Given the description of an element on the screen output the (x, y) to click on. 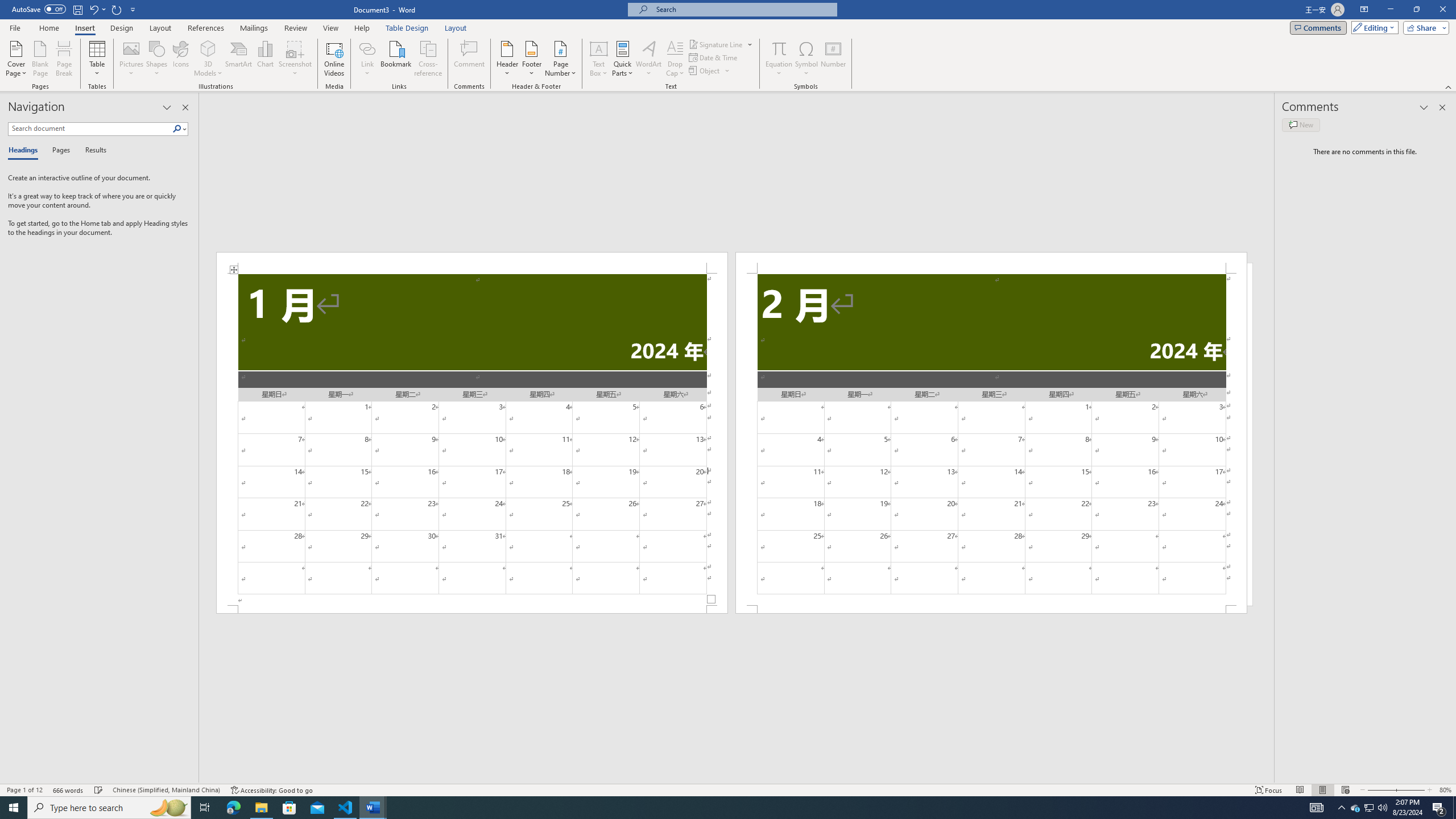
Footer (531, 58)
Page Number (560, 58)
Pictures (131, 58)
Layout (455, 28)
References (205, 28)
Microsoft search (742, 9)
Bookmark... (396, 58)
Table Design (407, 28)
Number... (833, 58)
Chart... (265, 58)
System (6, 6)
Help (361, 28)
Text Box (598, 58)
Shapes (156, 58)
